Given the description of an element on the screen output the (x, y) to click on. 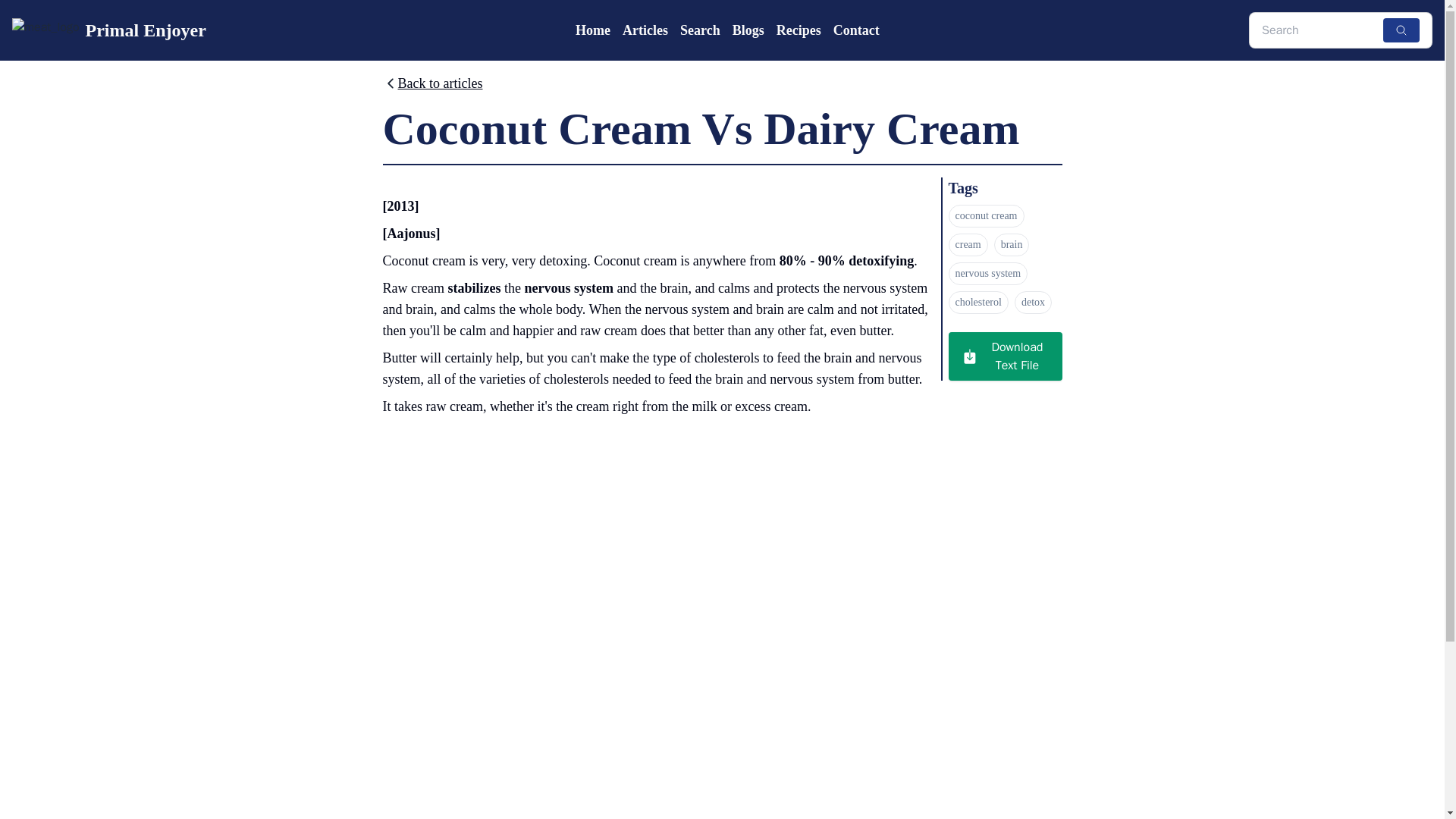
Primal Enjoyer (108, 30)
Back to articles (431, 86)
Download Text File (1004, 356)
Home (592, 29)
Contact (855, 29)
Search (699, 29)
Recipes (798, 29)
Articles (645, 29)
Blogs (748, 29)
